Given the description of an element on the screen output the (x, y) to click on. 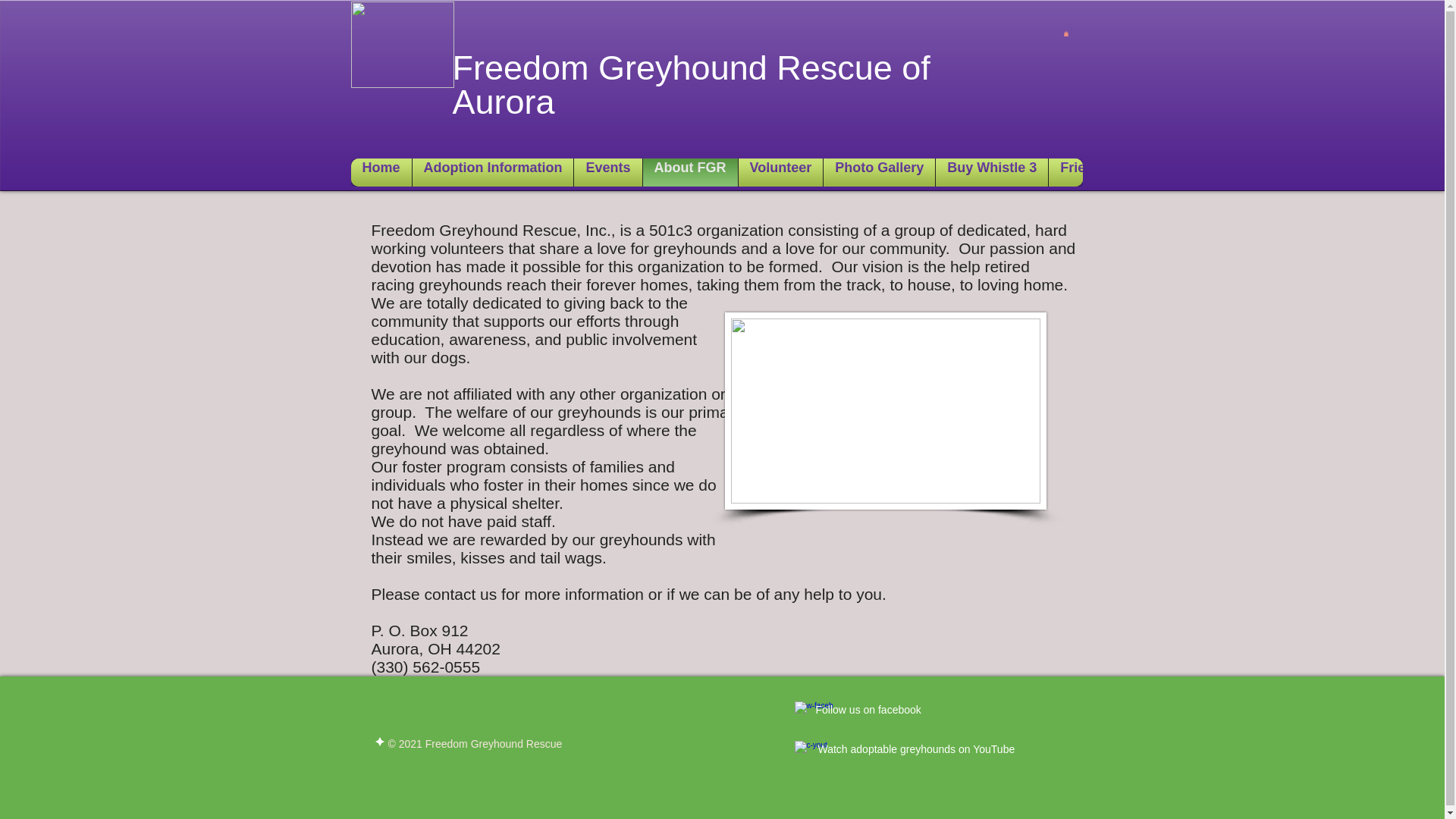
Volunteer (779, 172)
Buy Whistle 3 (991, 172)
Photo Gallery (879, 172)
logo1.png (401, 44)
Home (381, 172)
Friends of FGR (1109, 172)
About FGR (689, 172)
Adoption Information (493, 172)
Events (607, 172)
